Given the description of an element on the screen output the (x, y) to click on. 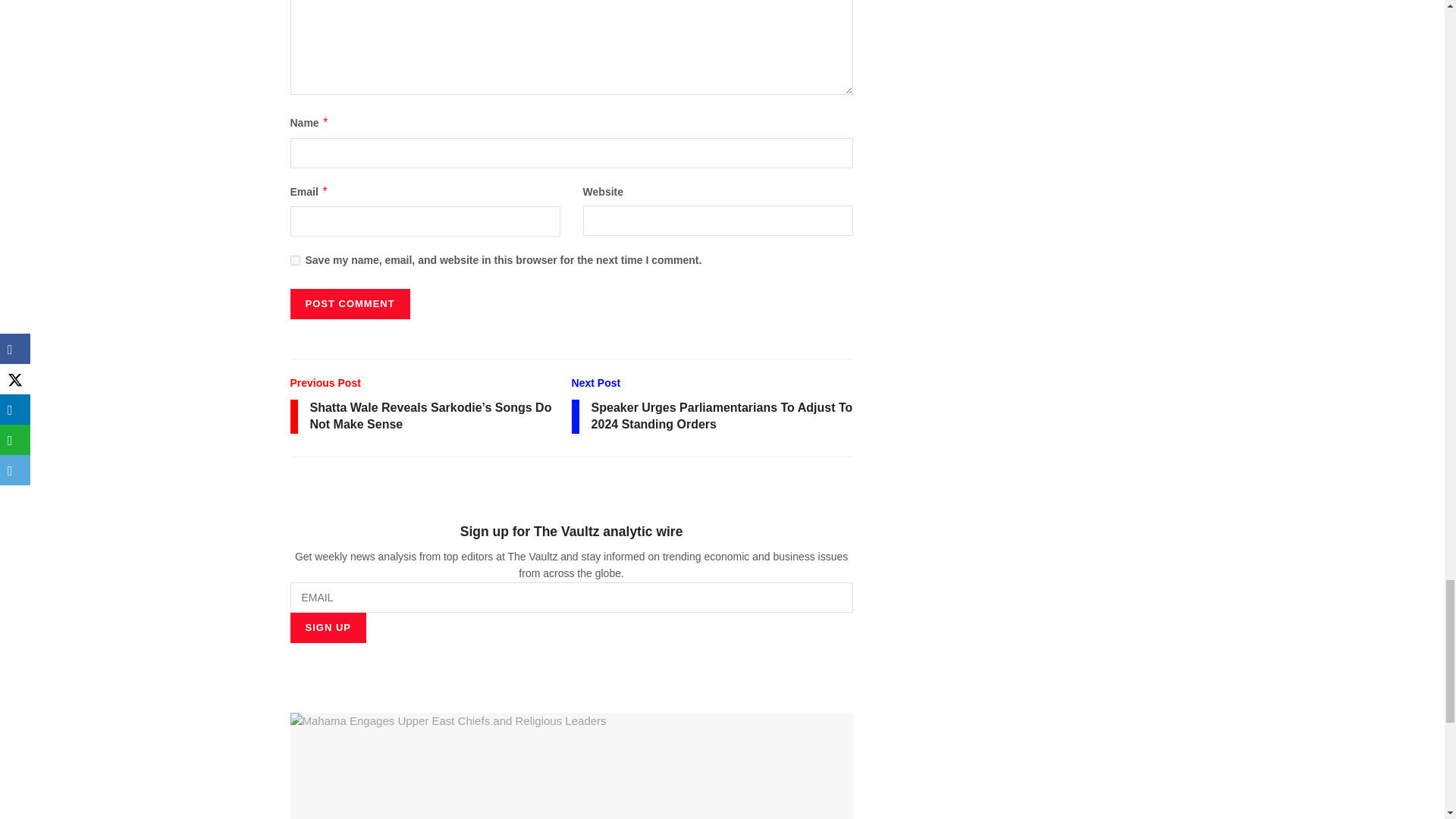
Post Comment (349, 304)
yes (294, 260)
Sign up (327, 627)
